Given the description of an element on the screen output the (x, y) to click on. 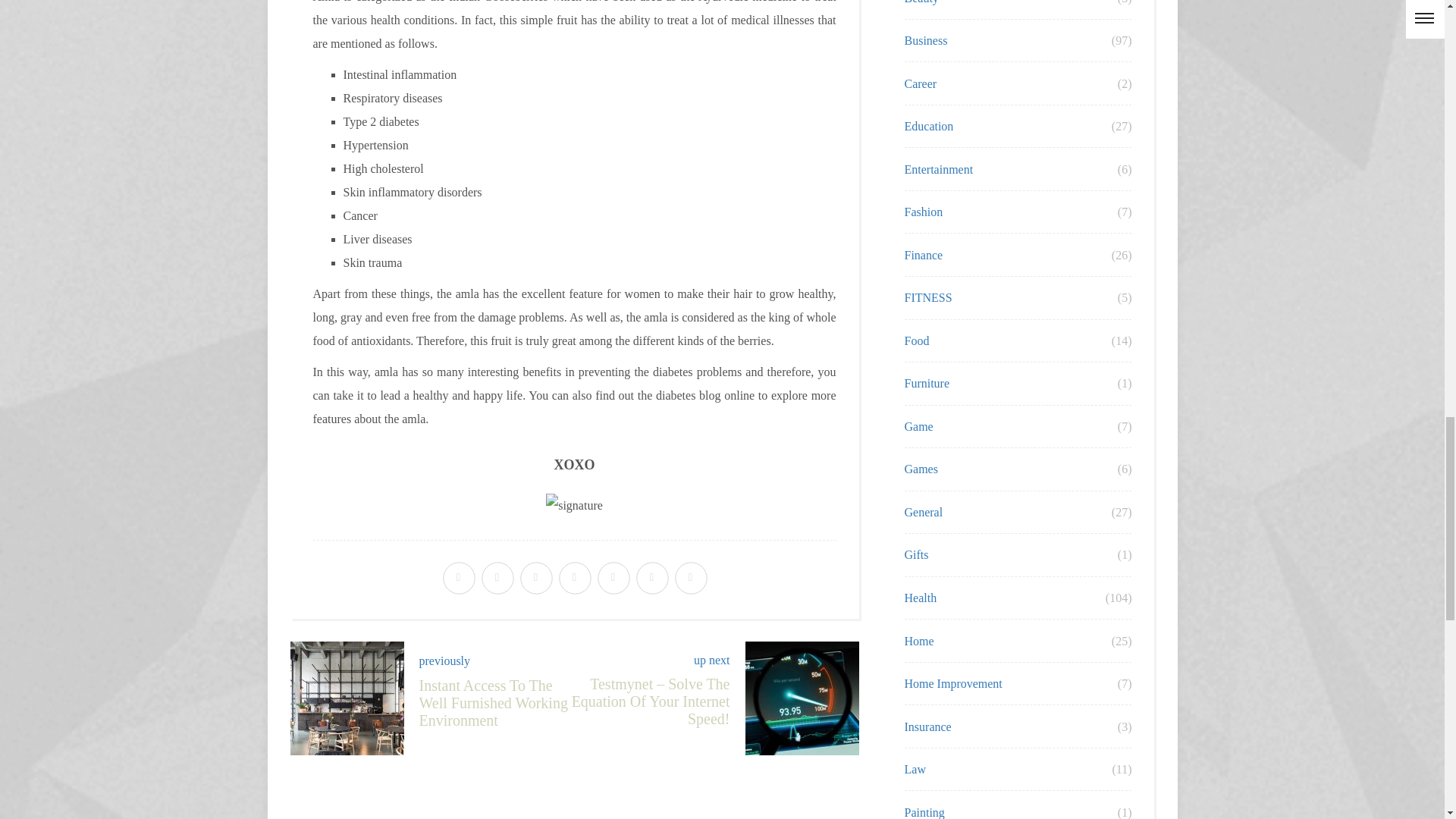
Instant access to the well furnished working environment (425, 680)
signature (574, 504)
